Given the description of an element on the screen output the (x, y) to click on. 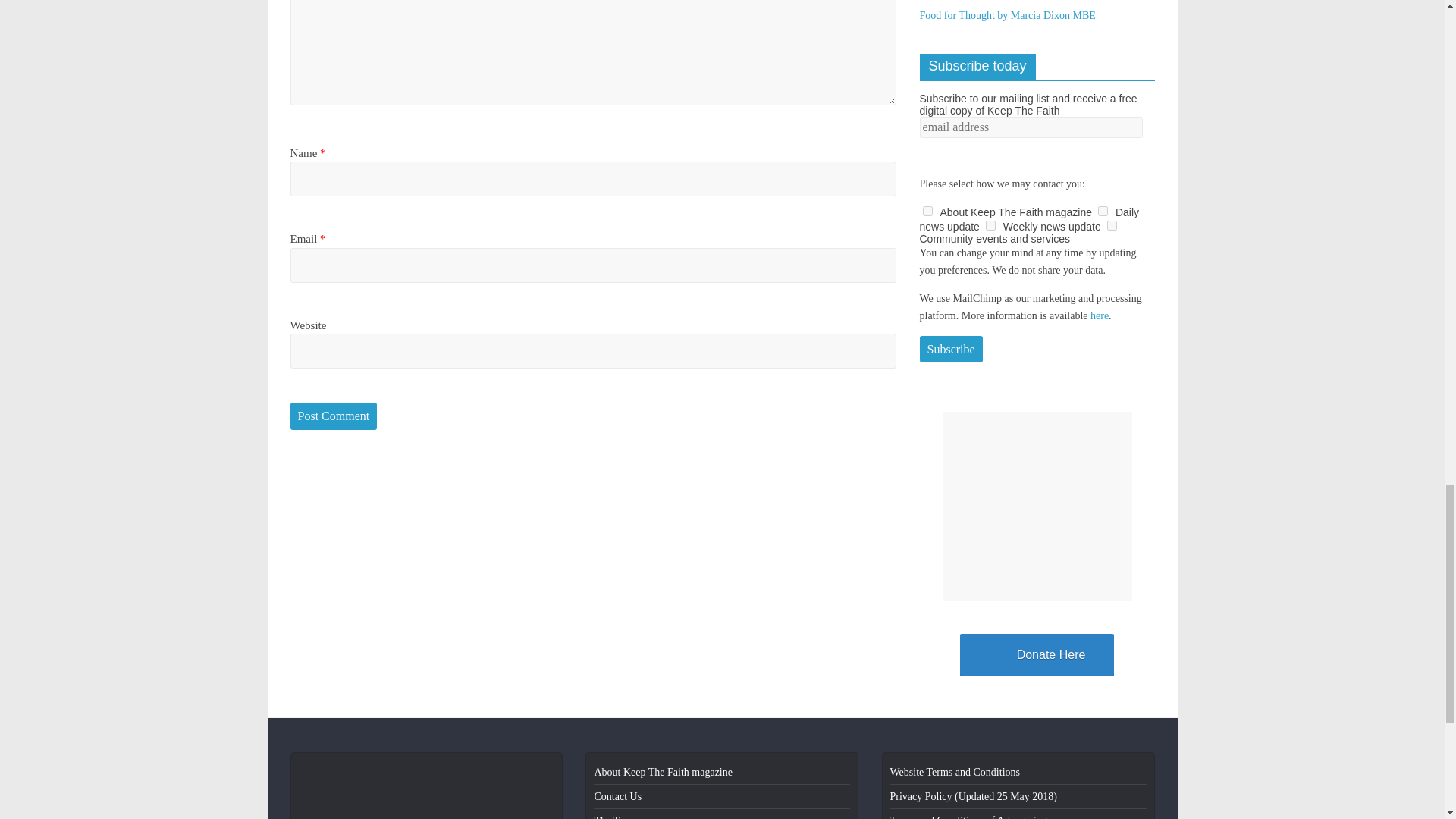
Y (926, 211)
Y (1102, 211)
Post Comment (333, 415)
Subscribe (949, 349)
Y (990, 225)
Y (1111, 225)
